Given the description of an element on the screen output the (x, y) to click on. 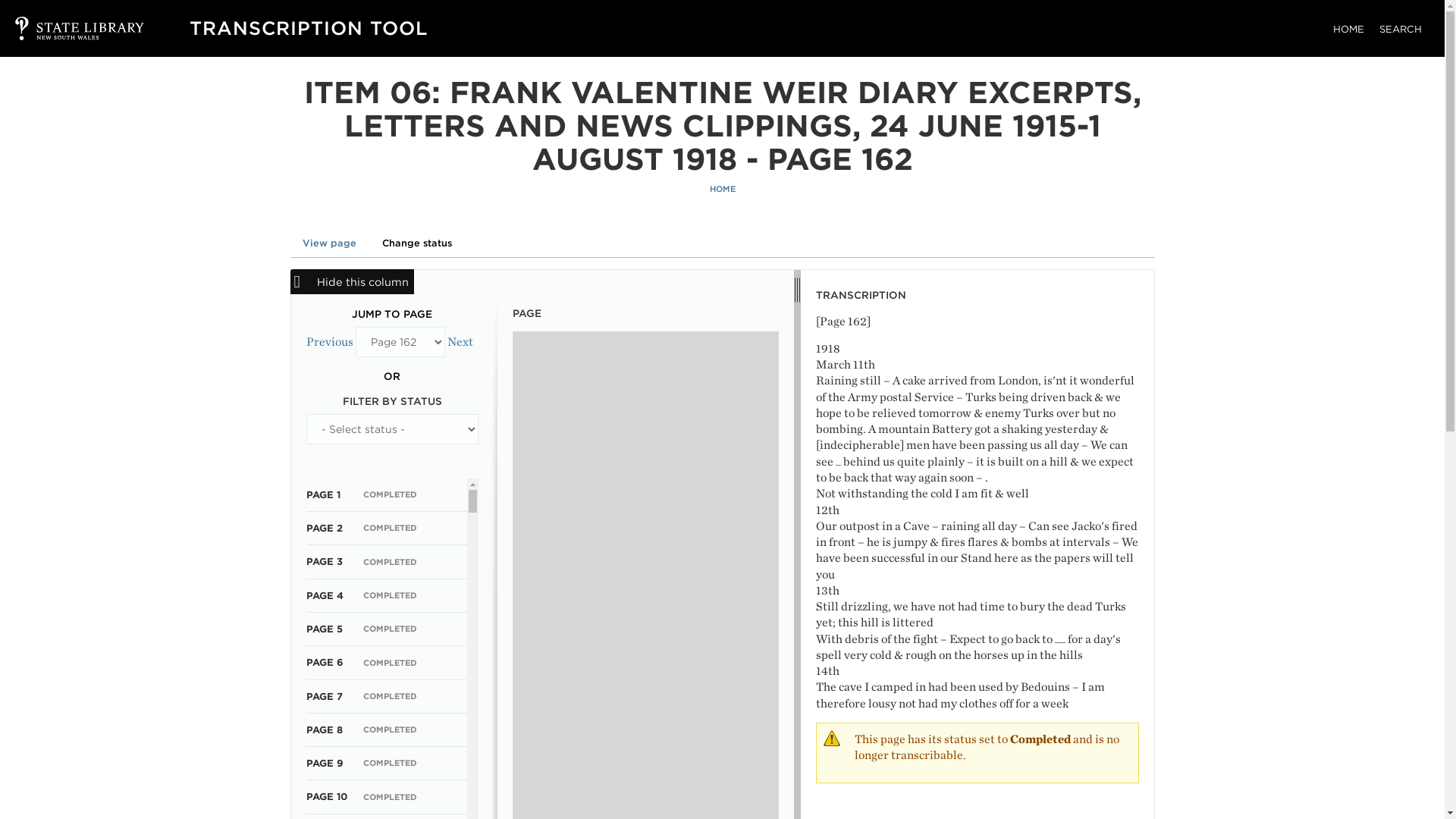
PAGE 7 (323, 696)
Hide this column (351, 281)
PAGE 5 (323, 628)
TRANSCRIPTION TOOL (308, 27)
Home (308, 27)
SEARCH (1400, 29)
PAGE 10 (326, 796)
HOME (722, 188)
PAGE 2 (323, 527)
